Given the description of an element on the screen output the (x, y) to click on. 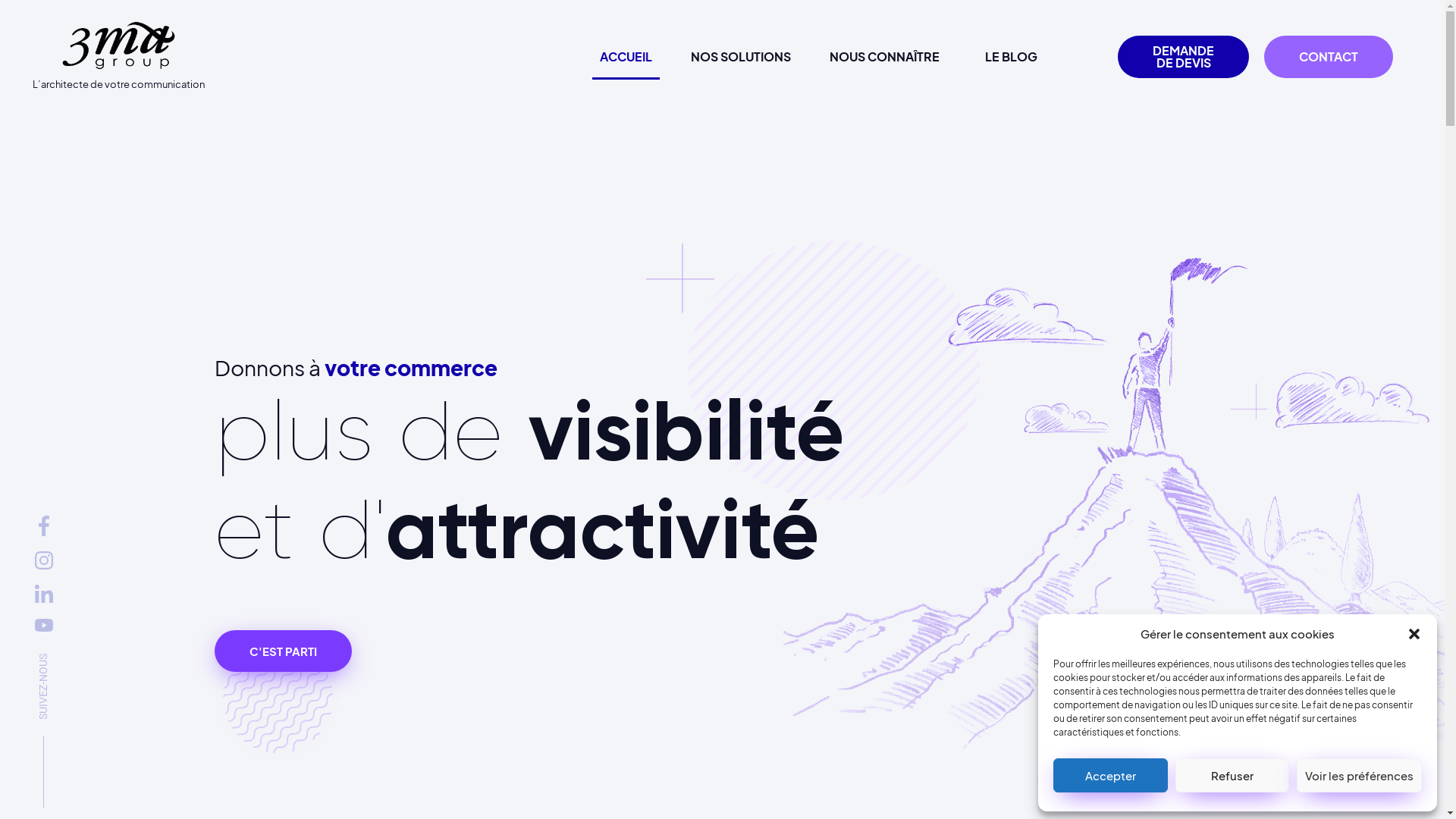
C'EST PARTI Element type: text (282, 650)
DEMANDE
DE DEVIS Element type: text (1182, 56)
Refuser Element type: text (1232, 775)
LE BLOG Element type: text (1010, 56)
CONTACT Element type: text (1328, 56)
Accepter Element type: text (1110, 775)
ACCUEIL Element type: text (625, 56)
NOS SOLUTIONS Element type: text (740, 56)
